Given the description of an element on the screen output the (x, y) to click on. 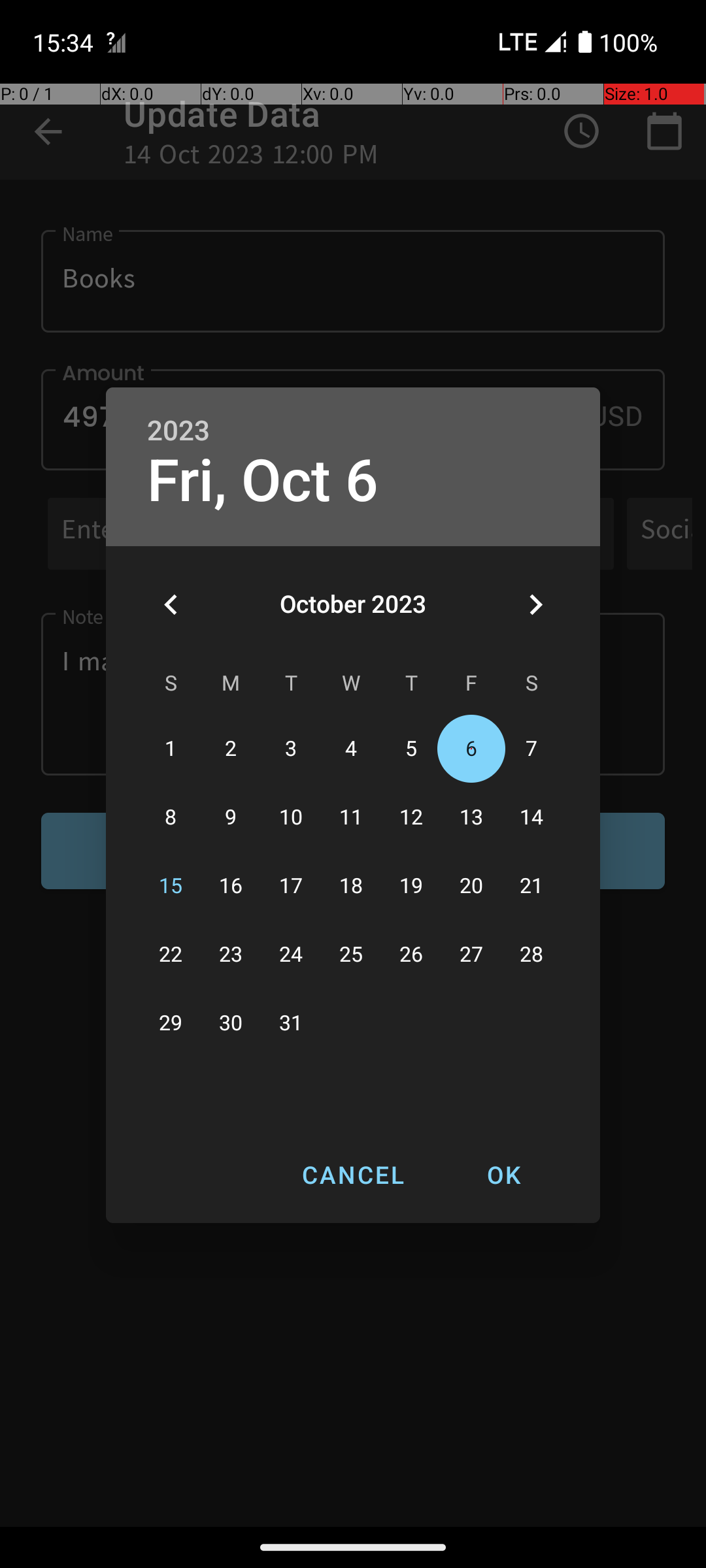
Fri, Oct 6 Element type: android.widget.TextView (262, 480)
